Given the description of an element on the screen output the (x, y) to click on. 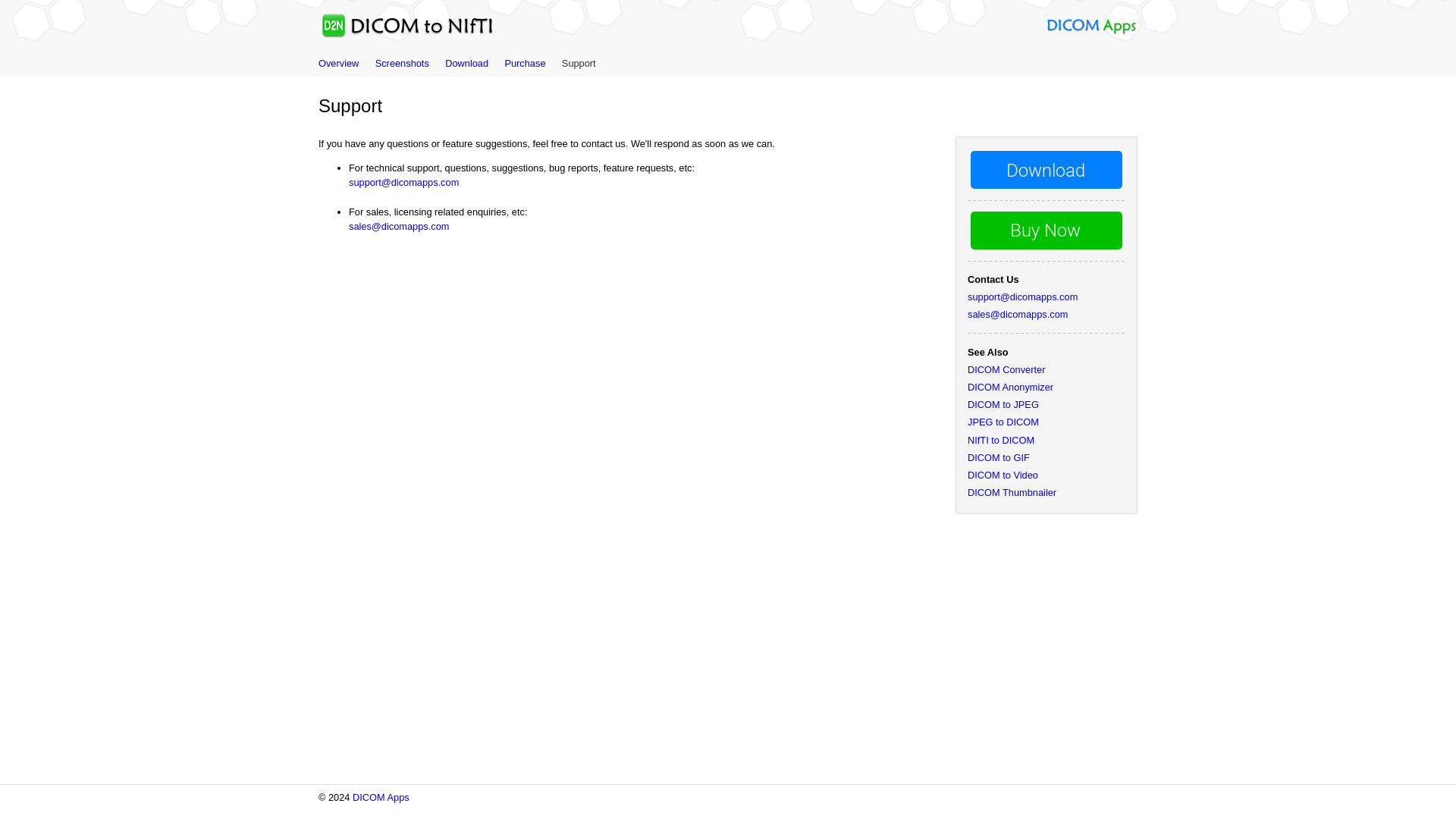
Buy Now (523, 62)
Overview and Screenshots (402, 62)
DICOM Apps Home (1091, 30)
NIfTI to DICOM (1000, 439)
DICOM Anonymizer (1010, 387)
DICOM to Video (1003, 474)
Purchase (523, 62)
Download (466, 62)
DICOM Apps (380, 797)
Overview (338, 62)
DICOM to JPEG (1003, 404)
JPEG to DICOM (1003, 421)
Screenshots (402, 62)
DICOM Thumbnailer (1012, 491)
DICOM to GIF (998, 457)
